Given the description of an element on the screen output the (x, y) to click on. 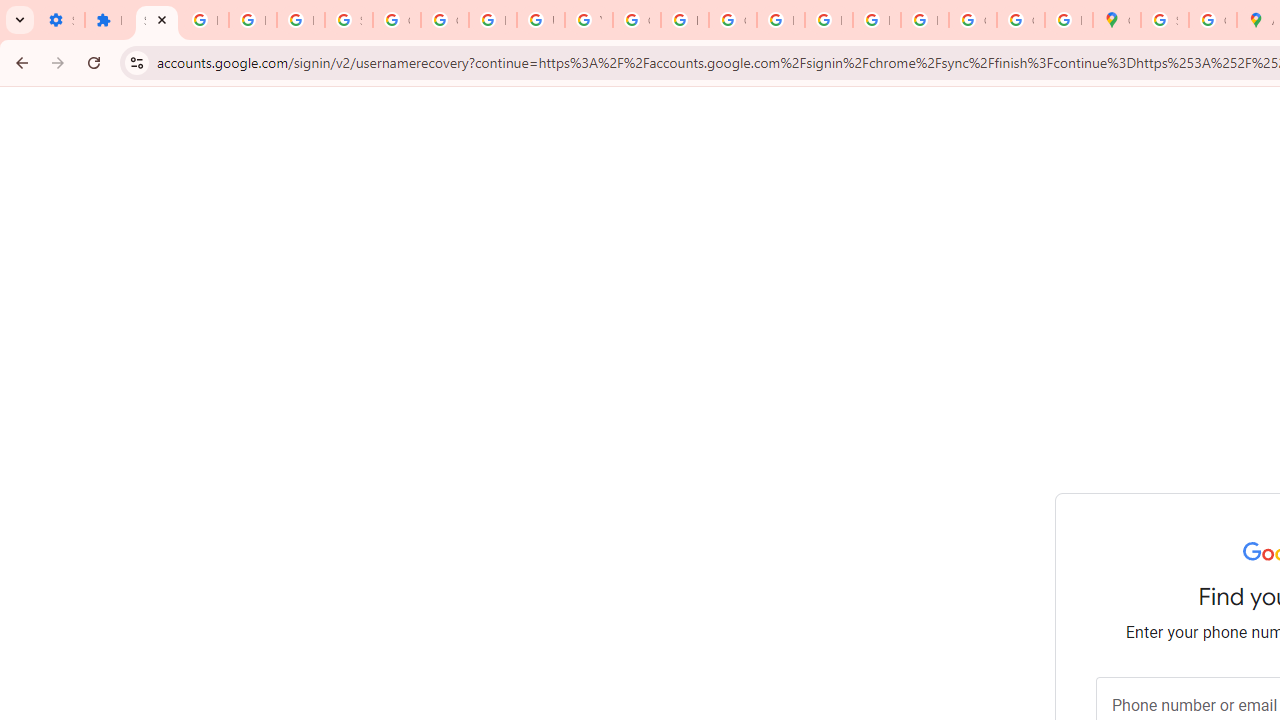
Settings - On startup (60, 20)
Create your Google Account (1212, 20)
Extensions (108, 20)
Google Account Help (444, 20)
Sign in - Google Accounts (348, 20)
https://scholar.google.com/ (684, 20)
